Given the description of an element on the screen output the (x, y) to click on. 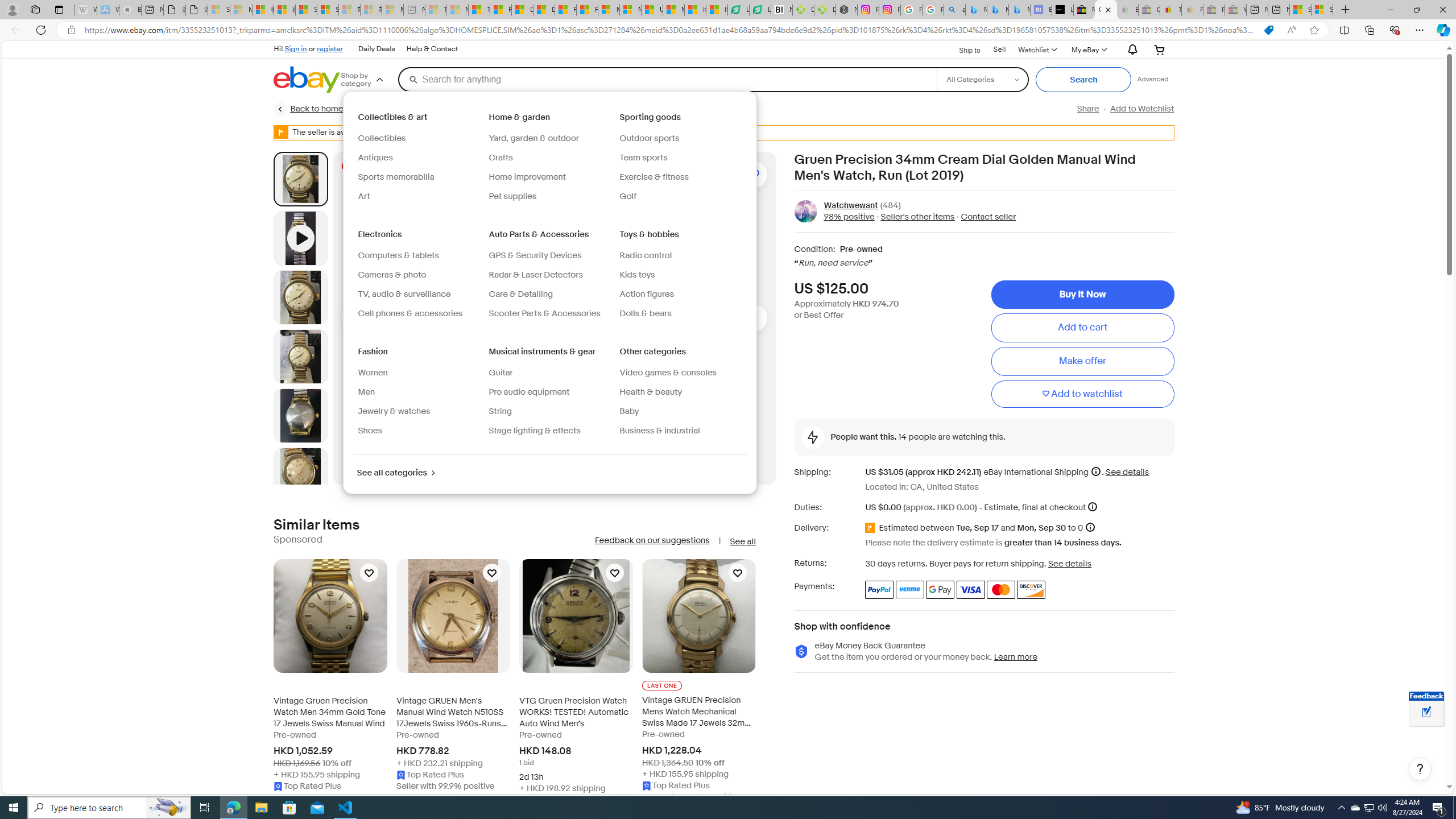
98% positive (849, 216)
Watches (613, 108)
LendingTree - Compare Lenders (760, 9)
Auto Parts & Accessories (540, 234)
Collectibles (381, 138)
Drinking tea every day is proven to delay biological aging (543, 9)
Picture 5 of 13 (300, 474)
Picture 2 of 13 (300, 297)
eBay Home (306, 79)
See all categories (394, 472)
Buy It Now (1082, 294)
Yard, garden & outdoor (533, 138)
Shoes (370, 430)
